Given the description of an element on the screen output the (x, y) to click on. 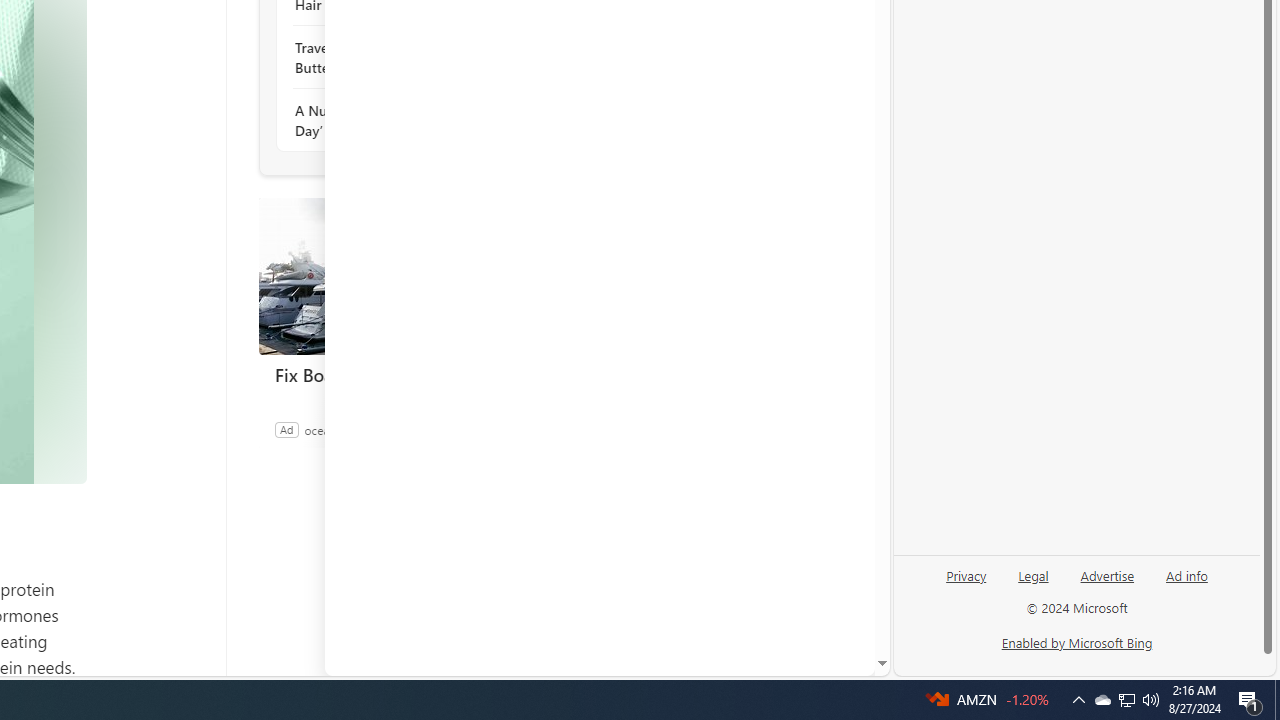
oceanbluemarine (349, 429)
Fix Boat Bliss (407, 374)
